Given the description of an element on the screen output the (x, y) to click on. 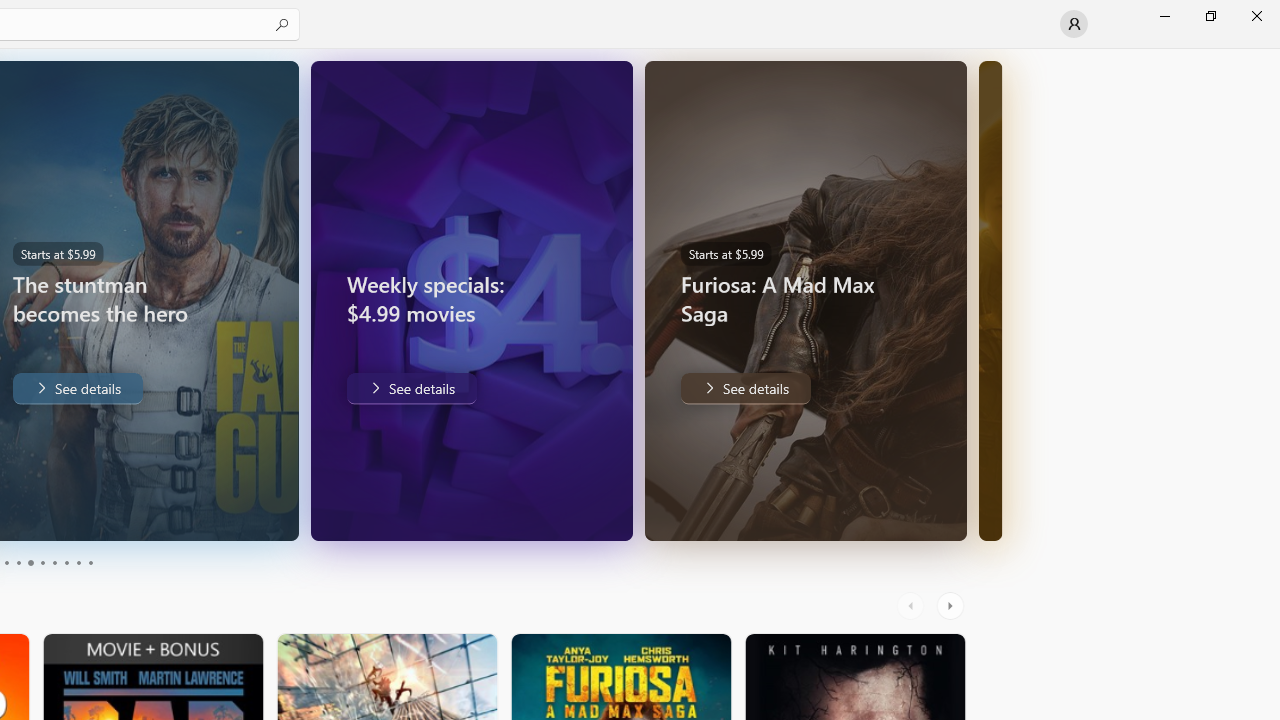
Page 10 (90, 562)
Page 8 (65, 562)
Page 4 (17, 562)
